Given the description of an element on the screen output the (x, y) to click on. 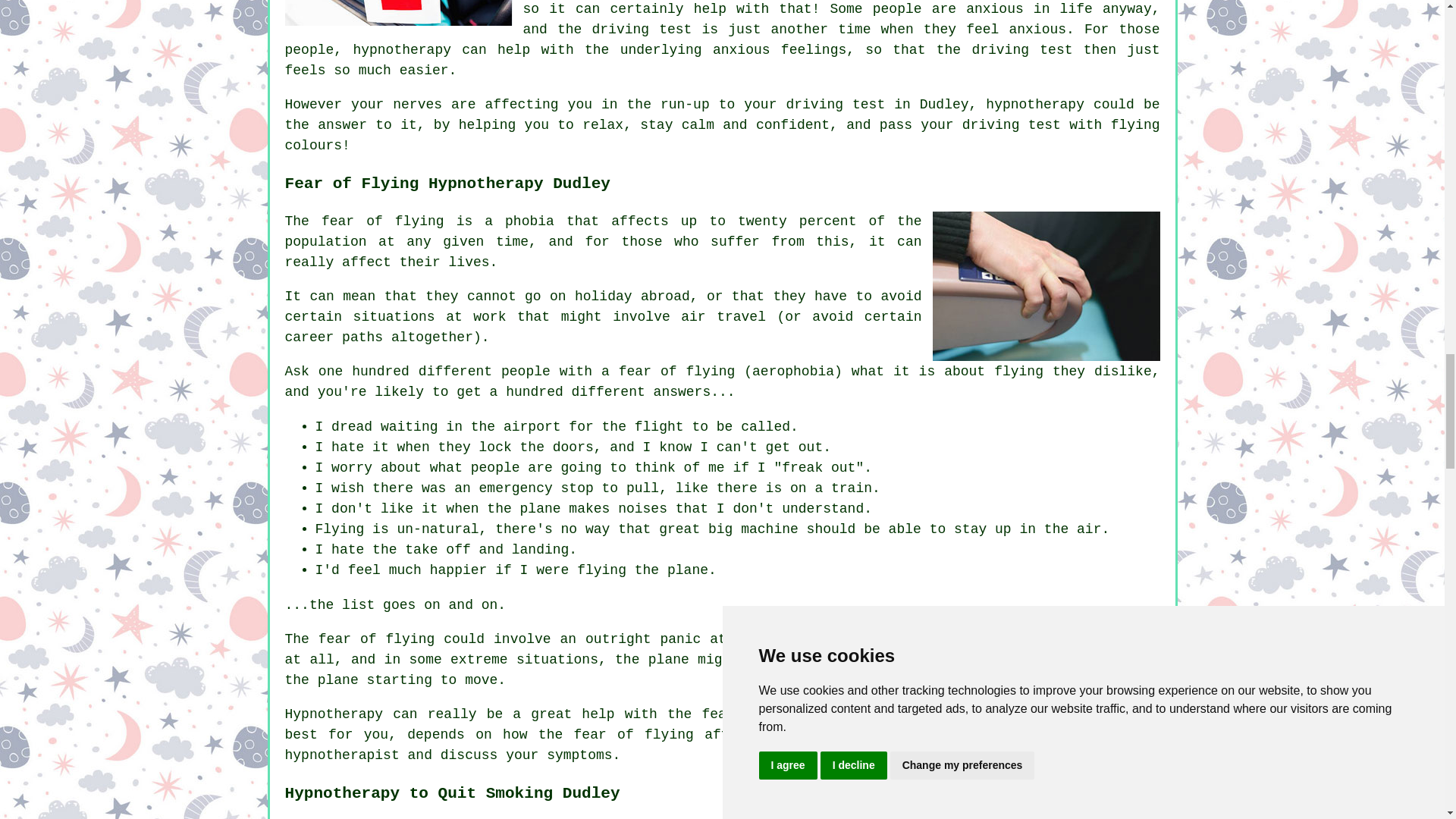
Fear of Flying Hypnotherapy Dudley (1046, 286)
fear of flying (382, 221)
Driving Test Hypnotherapy Dudley (398, 12)
